Given the description of an element on the screen output the (x, y) to click on. 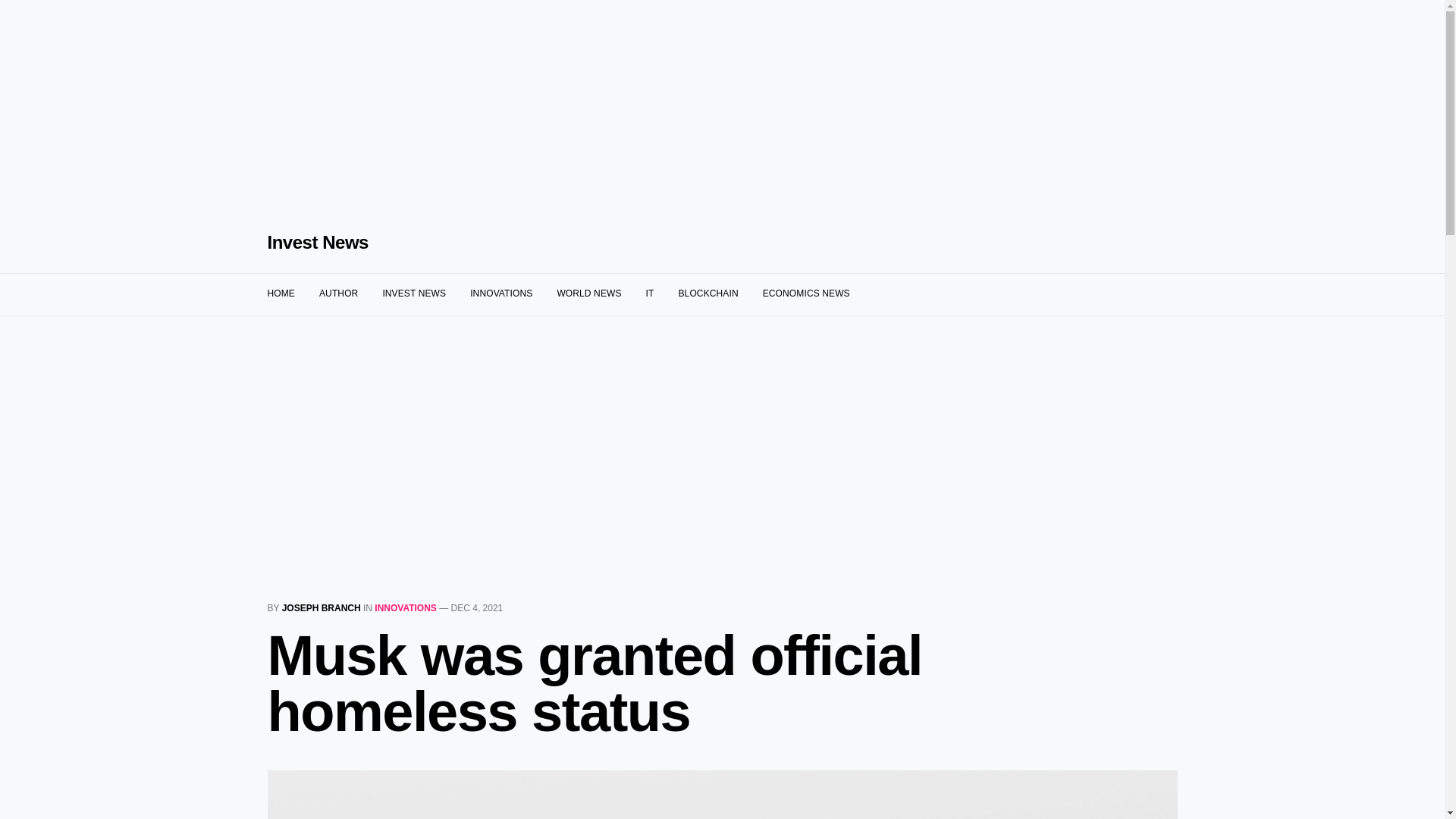
WORLD NEWS (588, 293)
AUTHOR (338, 293)
BLOCKCHAIN (708, 293)
HOME (280, 293)
Invest News (317, 242)
INVEST NEWS (413, 293)
INNOVATIONS (405, 607)
JOSEPH BRANCH (321, 607)
ECONOMICS NEWS (806, 293)
INNOVATIONS (501, 293)
